Given the description of an element on the screen output the (x, y) to click on. 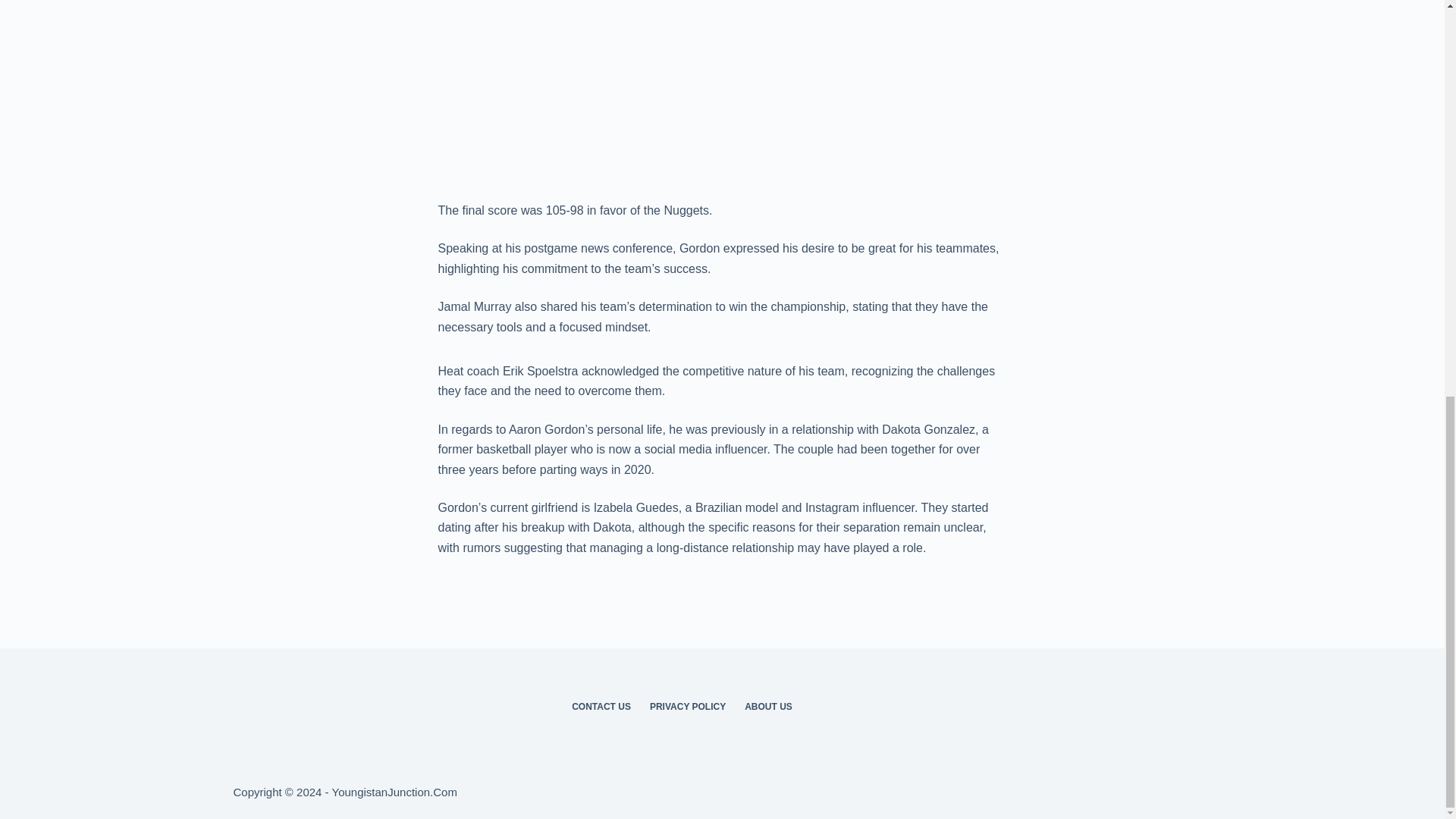
ABOUT US (768, 707)
CONTACT US (601, 707)
Advertisement (722, 97)
PRIVACY POLICY (687, 707)
